Given the description of an element on the screen output the (x, y) to click on. 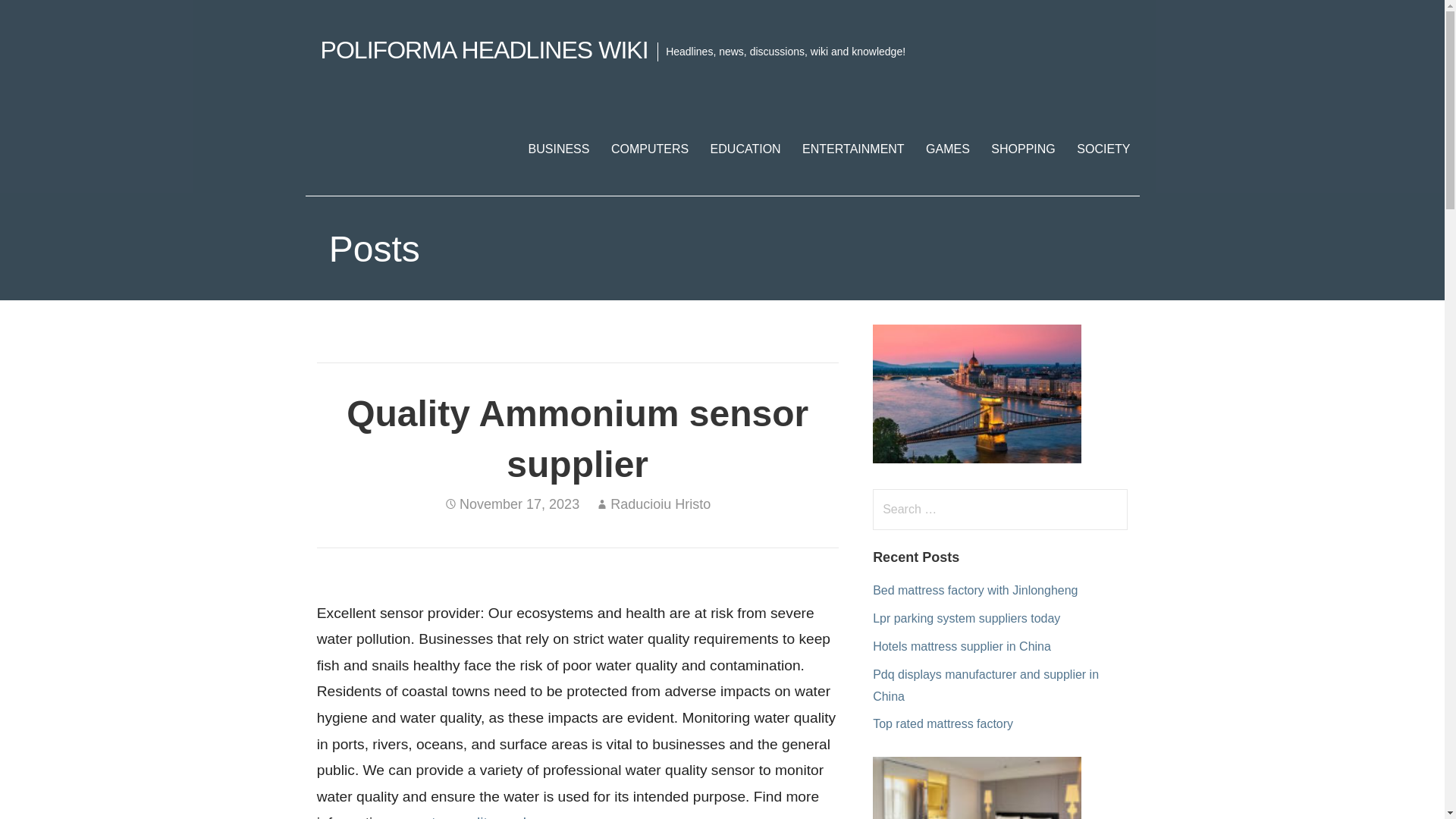
Raducioiu Hristo (660, 503)
Bed mattress factory with Jinlongheng (974, 590)
Top rated mattress factory (942, 723)
ENTERTAINMENT (853, 148)
Pdq displays manufacturer and supplier in China (985, 685)
COMPUTERS (649, 148)
Posts by Raducioiu Hristo (660, 503)
Search (42, 18)
Lpr parking system suppliers today (965, 617)
